Given the description of an element on the screen output the (x, y) to click on. 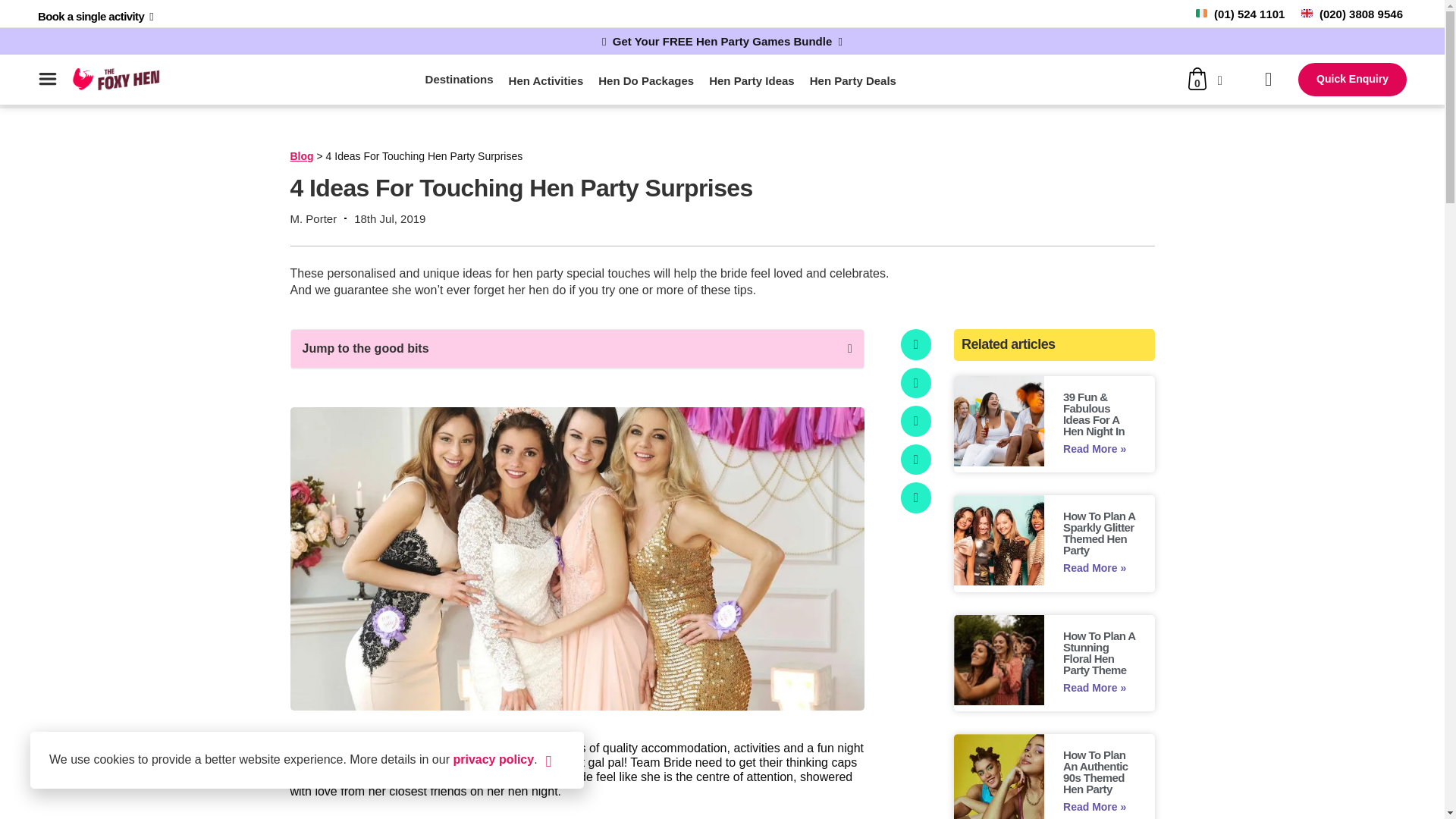
Hen Activities (545, 80)
Destinations (459, 78)
Blog (301, 155)
Quick Enquiry (1352, 79)
Hen Do Packages (646, 80)
Hen Party Deals (852, 80)
Hen Party Ideas (751, 80)
